Given the description of an element on the screen output the (x, y) to click on. 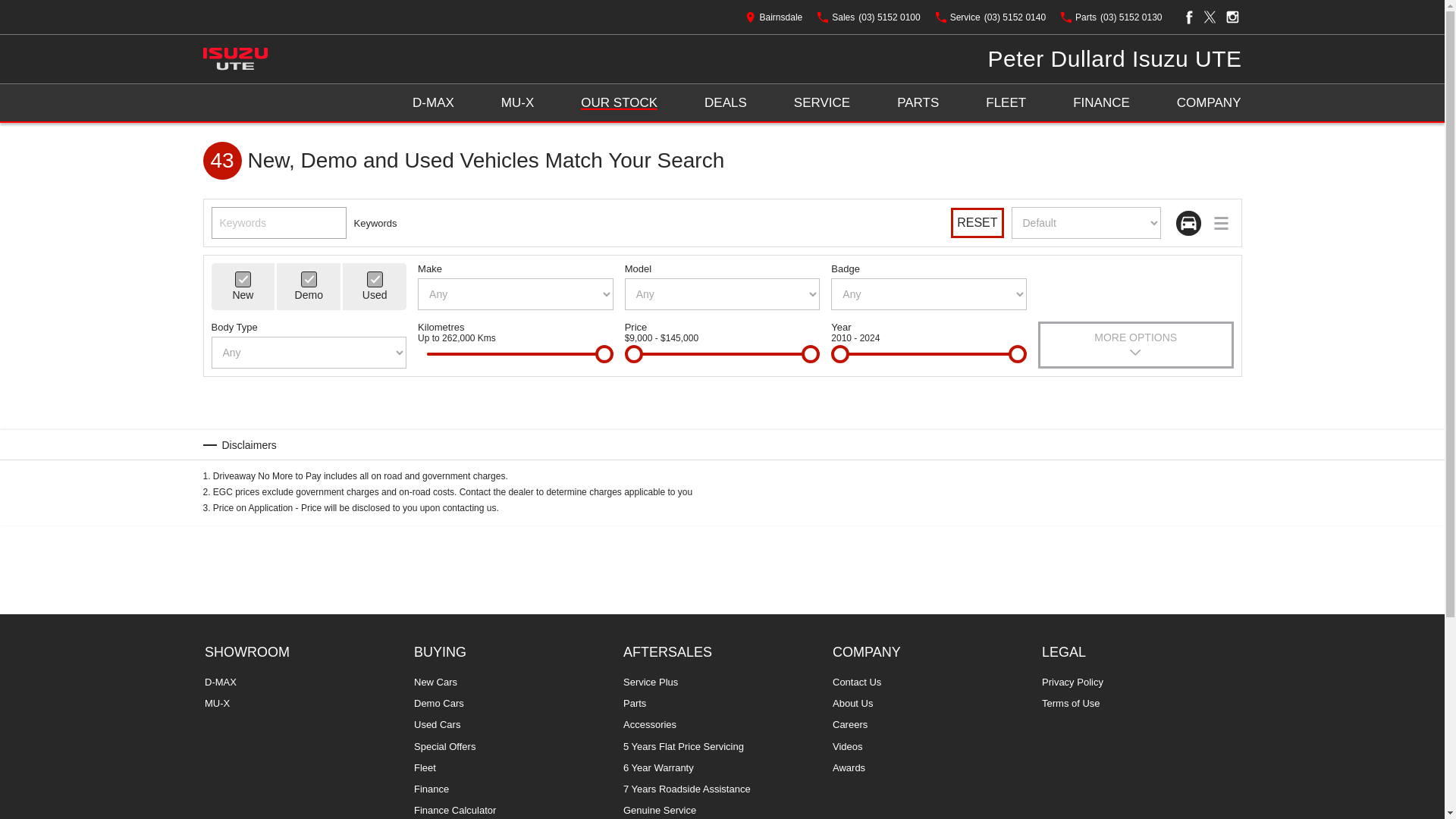
Demo (309, 279)
Used (374, 279)
DEALS (725, 102)
Bairnsdale (774, 16)
D-MAX (432, 102)
MU-X (517, 102)
New (242, 279)
OUR STOCK (619, 102)
Peter Dullard Isuzu UTE (1114, 58)
SERVICE (821, 102)
